Given the description of an element on the screen output the (x, y) to click on. 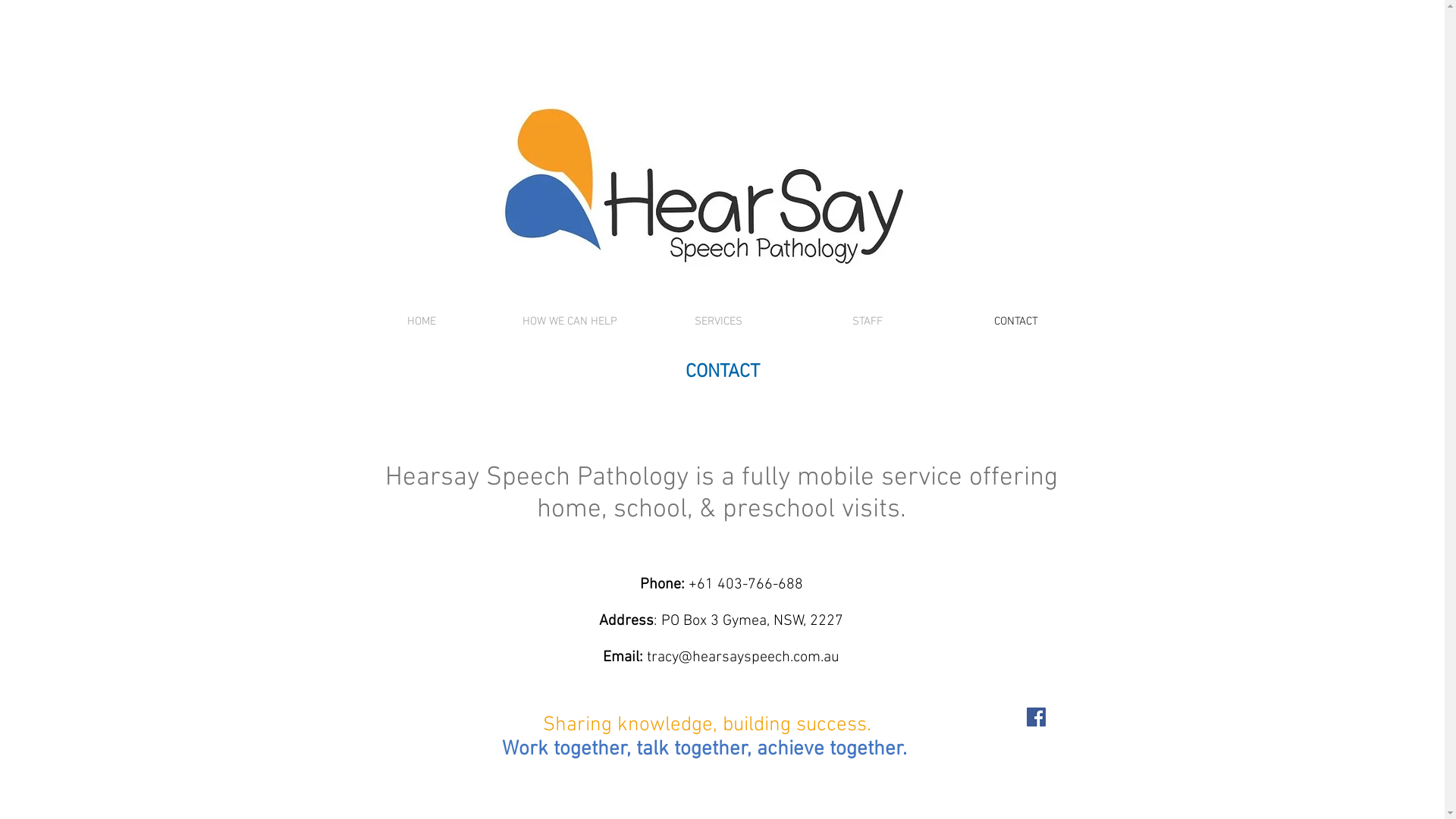
STAFF Element type: text (867, 321)
SERVICES Element type: text (718, 321)
HOW WE CAN HELP Element type: text (569, 321)
HOME Element type: text (421, 321)
CONTACT Element type: text (1015, 321)
tracy@hearsayspeech.com.au Element type: text (742, 657)
